Given the description of an element on the screen output the (x, y) to click on. 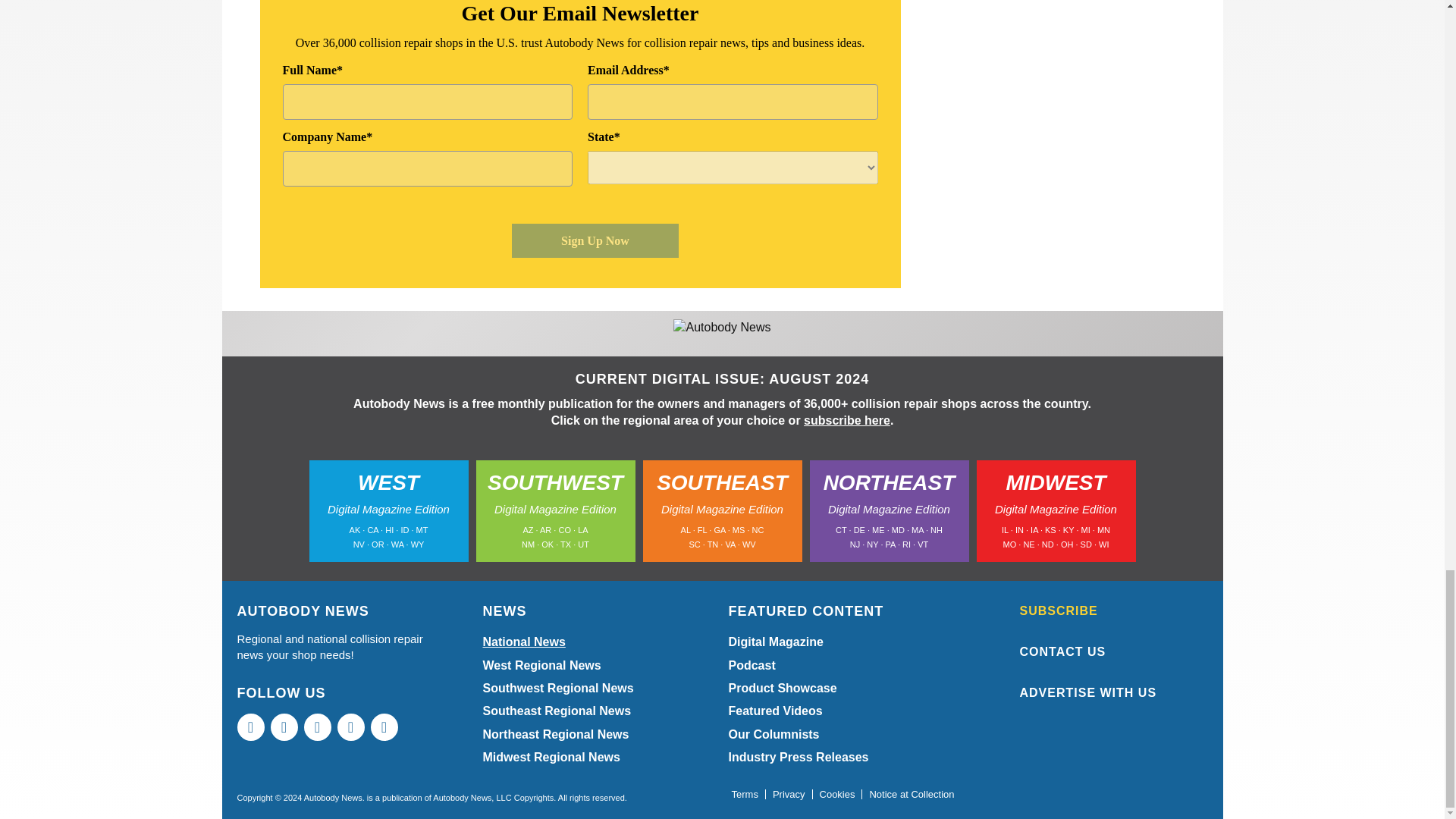
Auto Body News Privacy Policy (789, 794)
Auto Body News Notice at Collection Policy (911, 794)
Auto Body News Cookie Policy (837, 794)
